Given the description of an element on the screen output the (x, y) to click on. 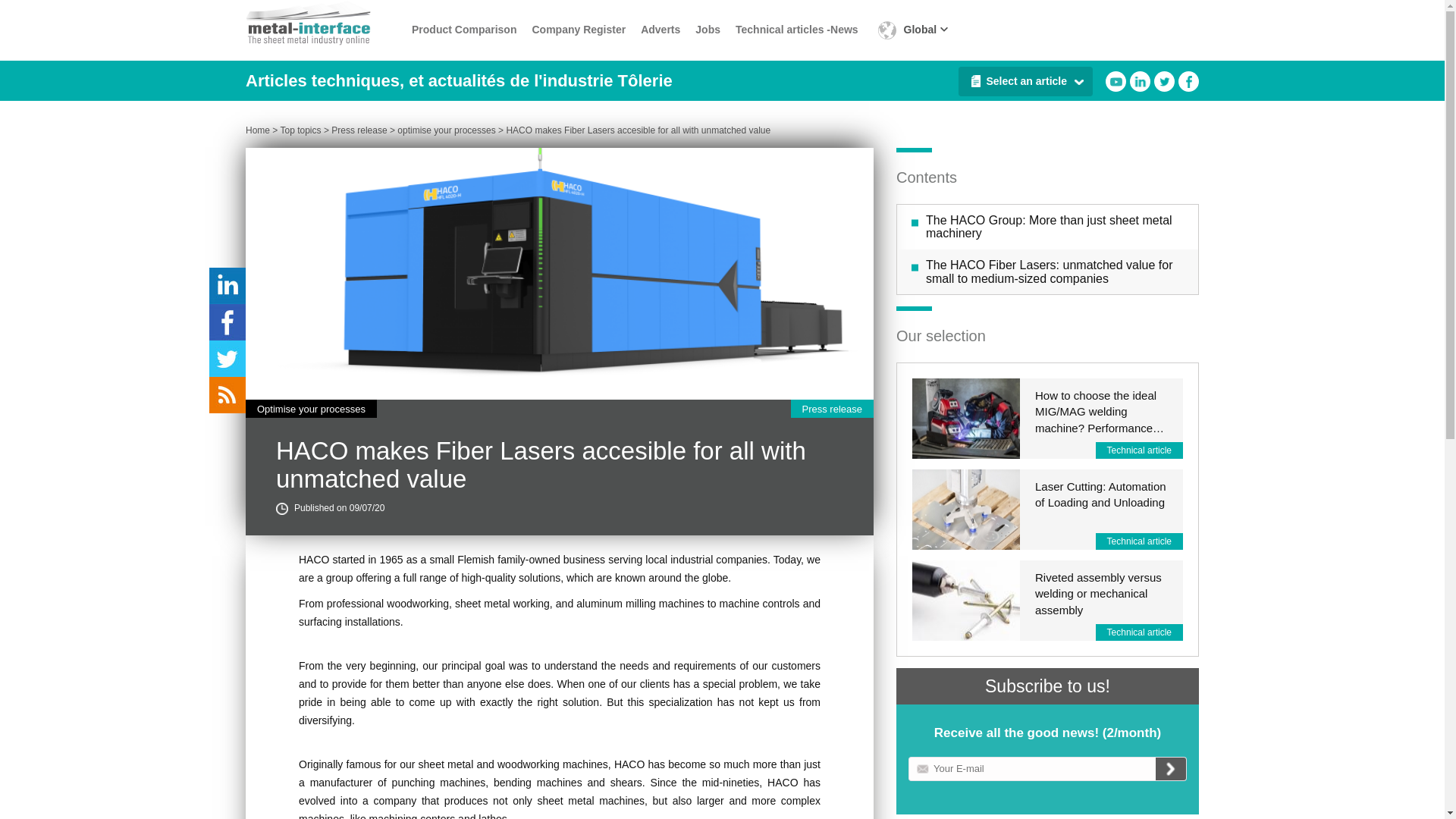
Sheet metal industry : technical articles and news (325, 22)
Global (909, 30)
OK (1171, 768)
Adverts (659, 29)
Jobs (707, 29)
Product Comparison (464, 29)
Technical articles -News (797, 29)
Company Register (578, 29)
